Given the description of an element on the screen output the (x, y) to click on. 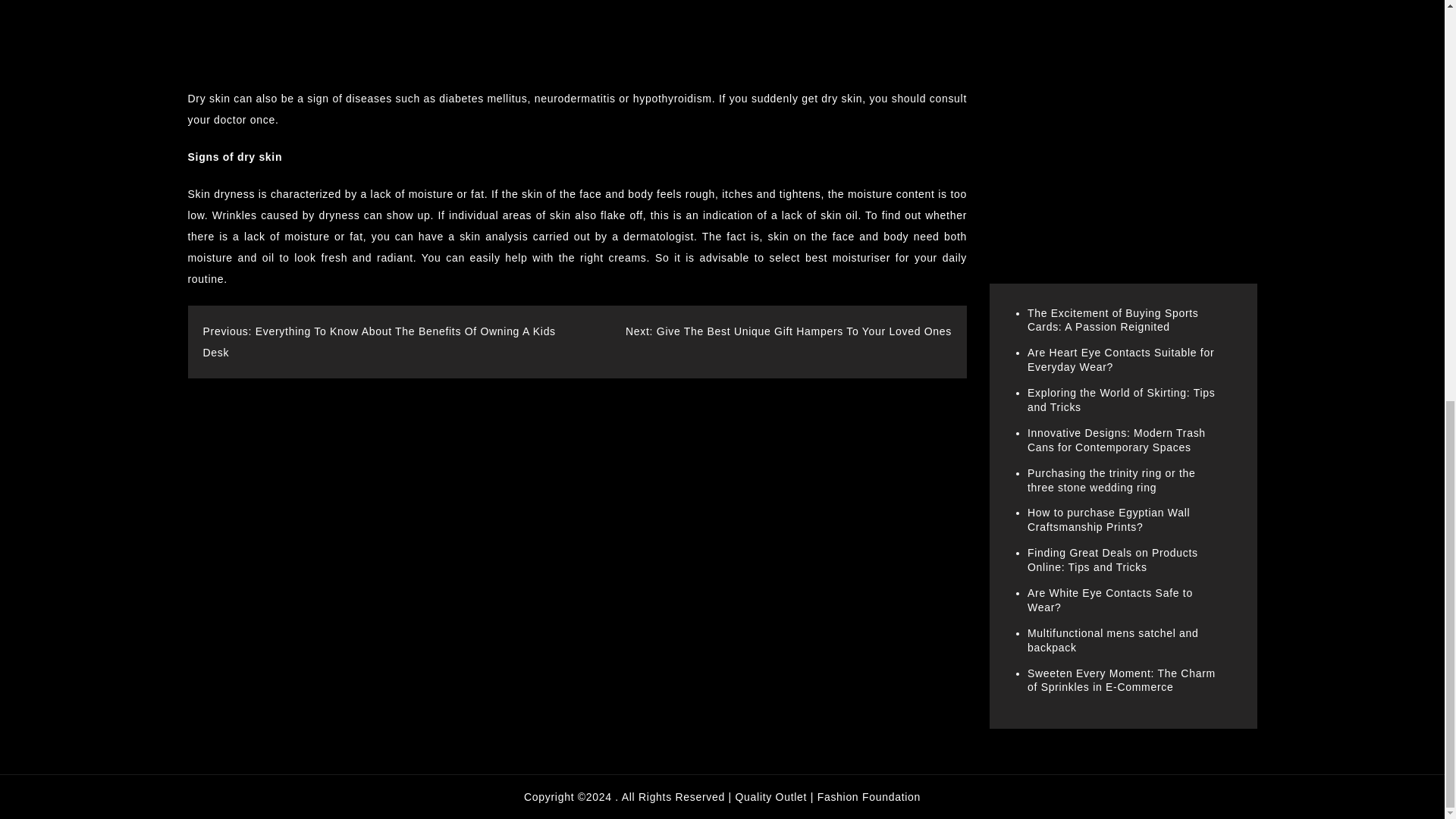
Purchasing the trinity ring or the three stone wedding ring (1111, 479)
Are White Eye Contacts Safe to Wear? (1109, 600)
Finding Great Deals on Products Online: Tips and Tricks (1112, 560)
The Excitement of Buying Sports Cards: A Passion Reignited (1112, 320)
Exploring the World of Skirting: Tips and Tricks (1120, 399)
Multifunctional mens satchel and backpack (1112, 640)
Sweeten Every Moment: The Charm of Sprinkles in E-Commerce (1121, 680)
Next: Give The Best Unique Gift Hampers To Your Loved Ones (789, 331)
